Given the description of an element on the screen output the (x, y) to click on. 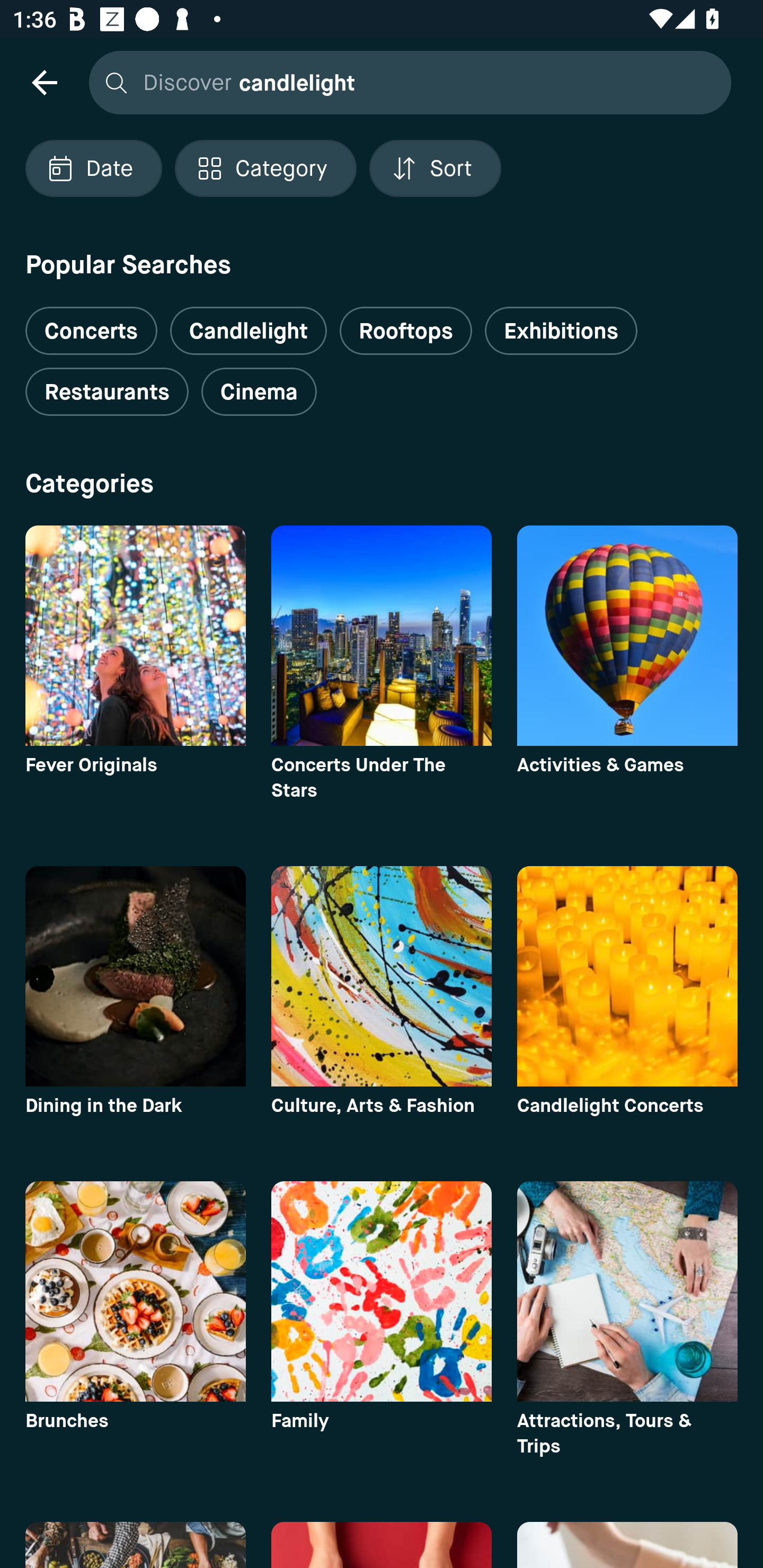
navigation icon (44, 81)
Discover candlelight (405, 81)
Localized description Date (93, 168)
Localized description Category (265, 168)
Localized description Sort (435, 168)
Concerts (91, 323)
Candlelight (248, 330)
Rooftops (405, 330)
Exhibitions (560, 330)
Restaurants (106, 391)
Cinema (258, 391)
category image (135, 635)
category image (381, 635)
category image (627, 635)
category image (135, 975)
category image (381, 975)
category image (627, 975)
category image (135, 1290)
category image (381, 1290)
category image (627, 1290)
